Given the description of an element on the screen output the (x, y) to click on. 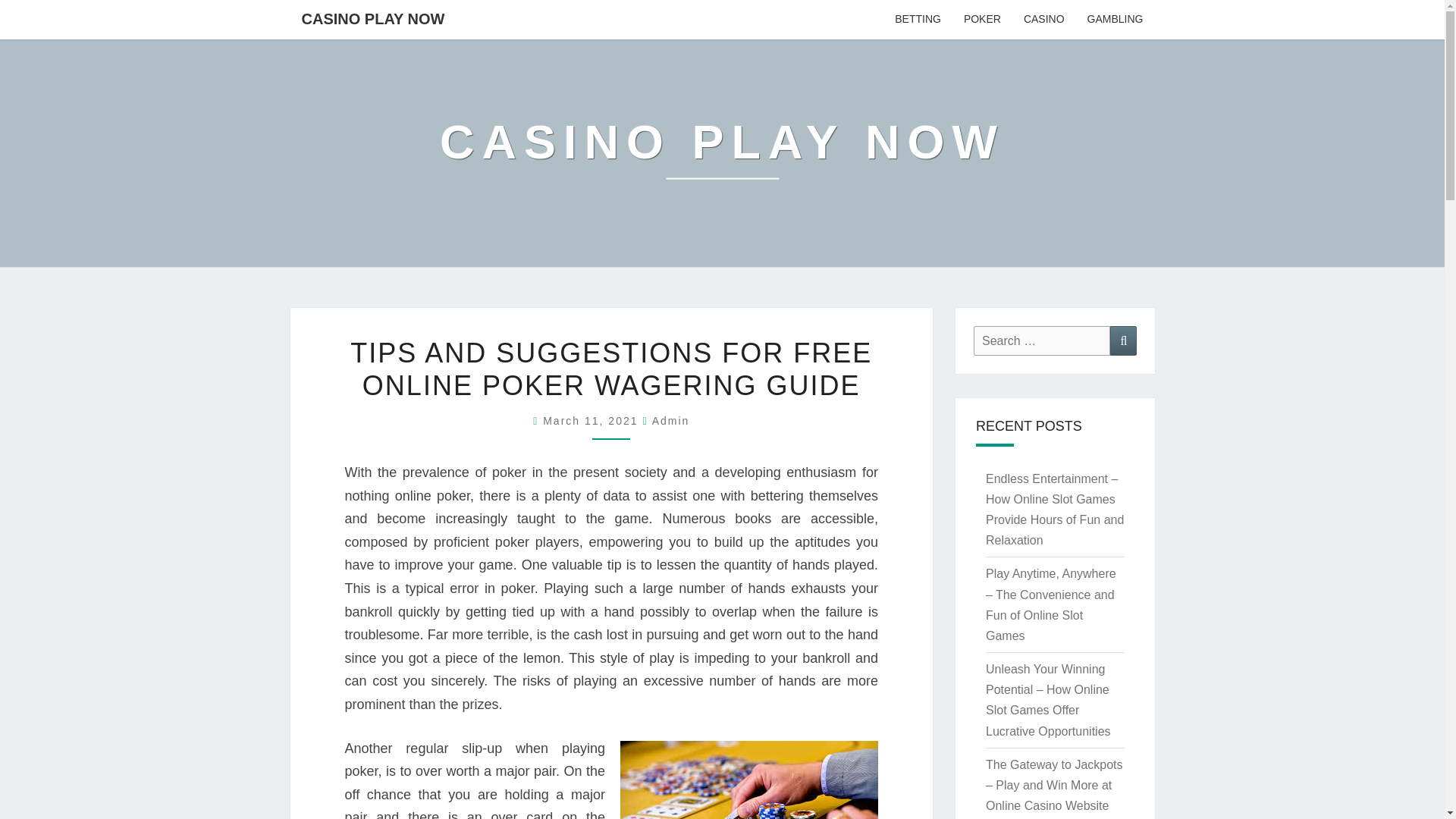
CASINO PLAY NOW (721, 152)
Casino play now (721, 152)
6:22 am (592, 420)
March 11, 2021 (592, 420)
View all posts by admin (671, 420)
Admin (671, 420)
Search (1123, 340)
POKER (981, 19)
CASINO (1043, 19)
CASINO PLAY NOW (372, 18)
Search for: (1041, 340)
GAMBLING (1114, 19)
BETTING (917, 19)
